Given the description of an element on the screen output the (x, y) to click on. 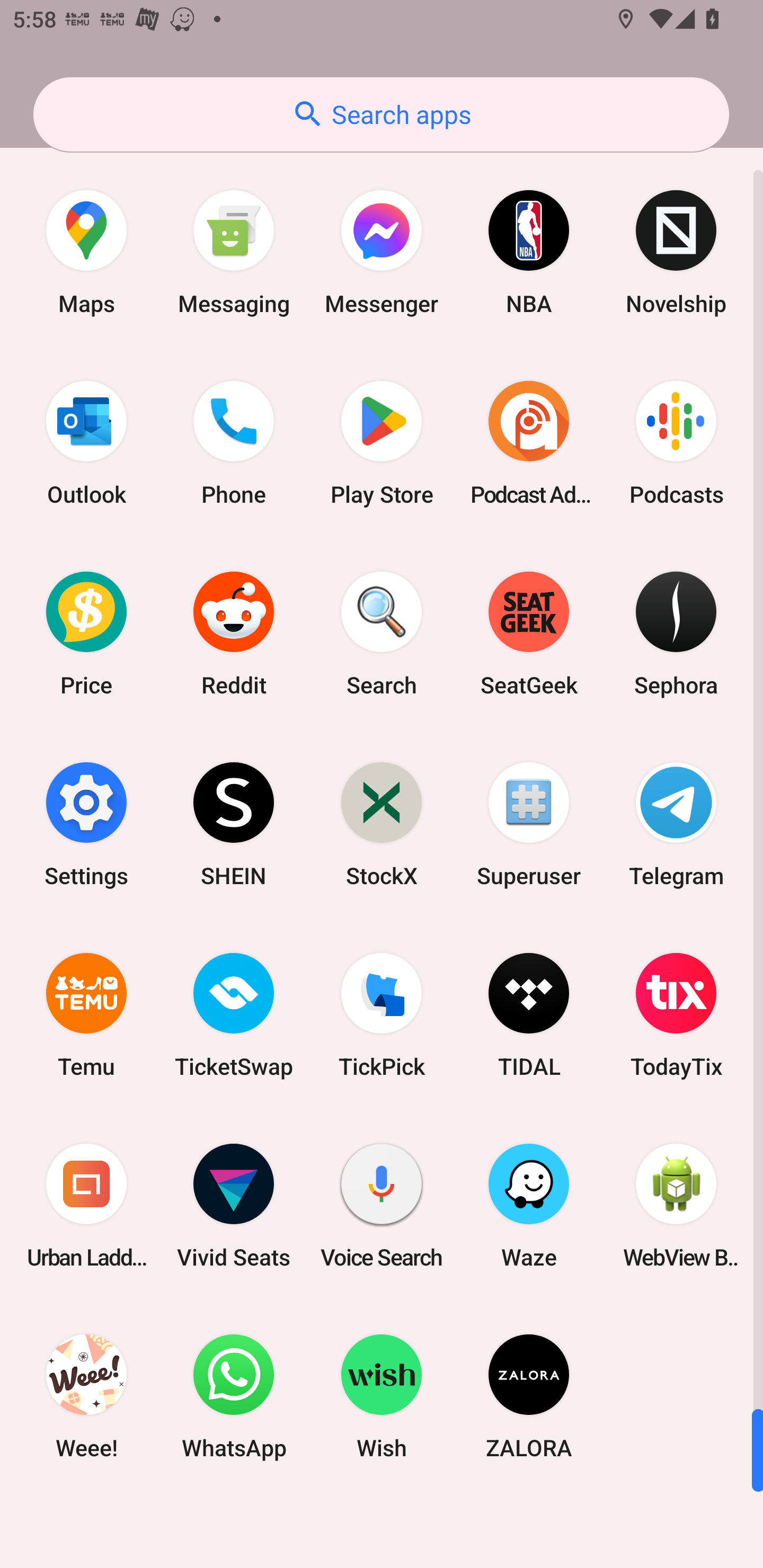
  Search apps (381, 114)
Maps (86, 252)
Messaging (233, 252)
Messenger (381, 252)
NBA (528, 252)
Novelship (676, 252)
Outlook (86, 442)
Phone (233, 442)
Play Store (381, 442)
Podcast Addict (528, 442)
Podcasts (676, 442)
Price (86, 633)
Reddit (233, 633)
Search (381, 633)
SeatGeek (528, 633)
Sephora (676, 633)
Settings (86, 823)
SHEIN (233, 823)
StockX (381, 823)
Superuser (528, 823)
Telegram (676, 823)
Temu (86, 1014)
TicketSwap (233, 1014)
TickPick (381, 1014)
TIDAL (528, 1014)
TodayTix (676, 1014)
Urban Ladder (86, 1205)
Vivid Seats (233, 1205)
Voice Search (381, 1205)
Waze (528, 1205)
WebView Browser Tester (676, 1205)
Weee! (86, 1396)
WhatsApp (233, 1396)
Wish (381, 1396)
ZALORA (528, 1396)
